Given the description of an element on the screen output the (x, y) to click on. 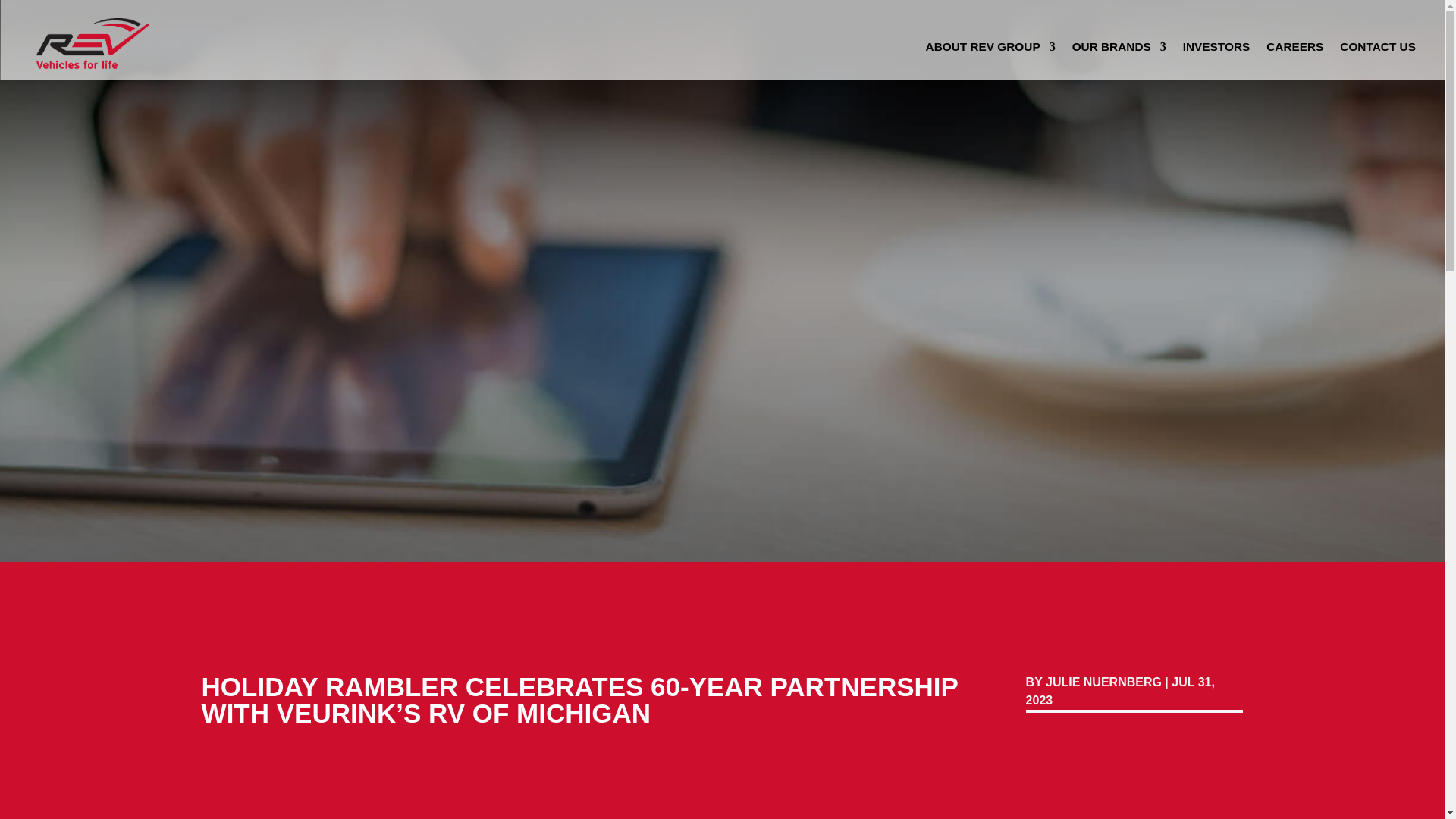
CAREERS (1294, 49)
OUR BRANDS (1118, 49)
REV-logo (91, 39)
INVESTORS (1215, 49)
CONTACT US (1377, 49)
Posts by Julie Nuernberg (1103, 681)
ABOUT REV GROUP (990, 49)
